Given the description of an element on the screen output the (x, y) to click on. 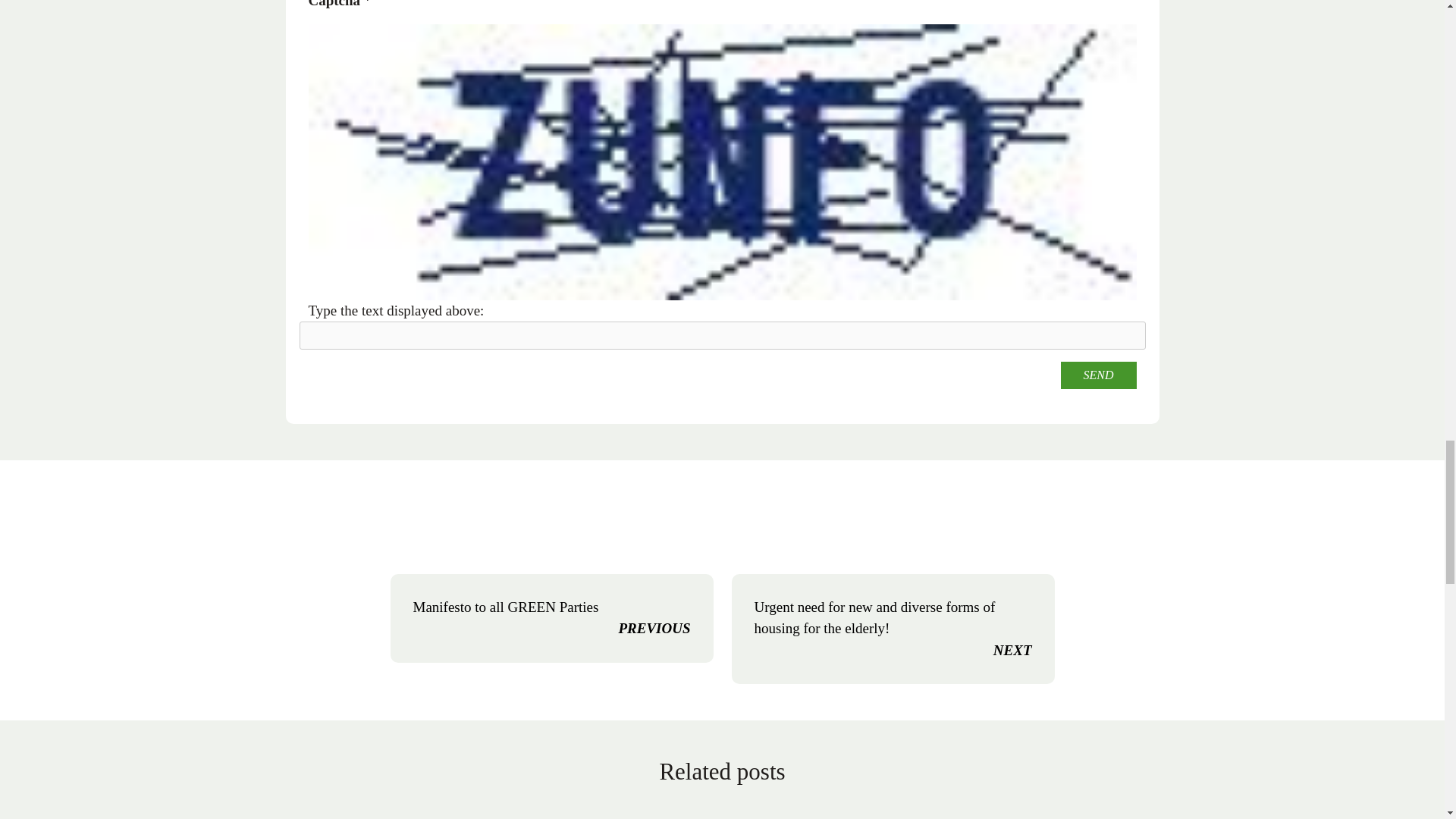
send (1097, 375)
